Given the description of an element on the screen output the (x, y) to click on. 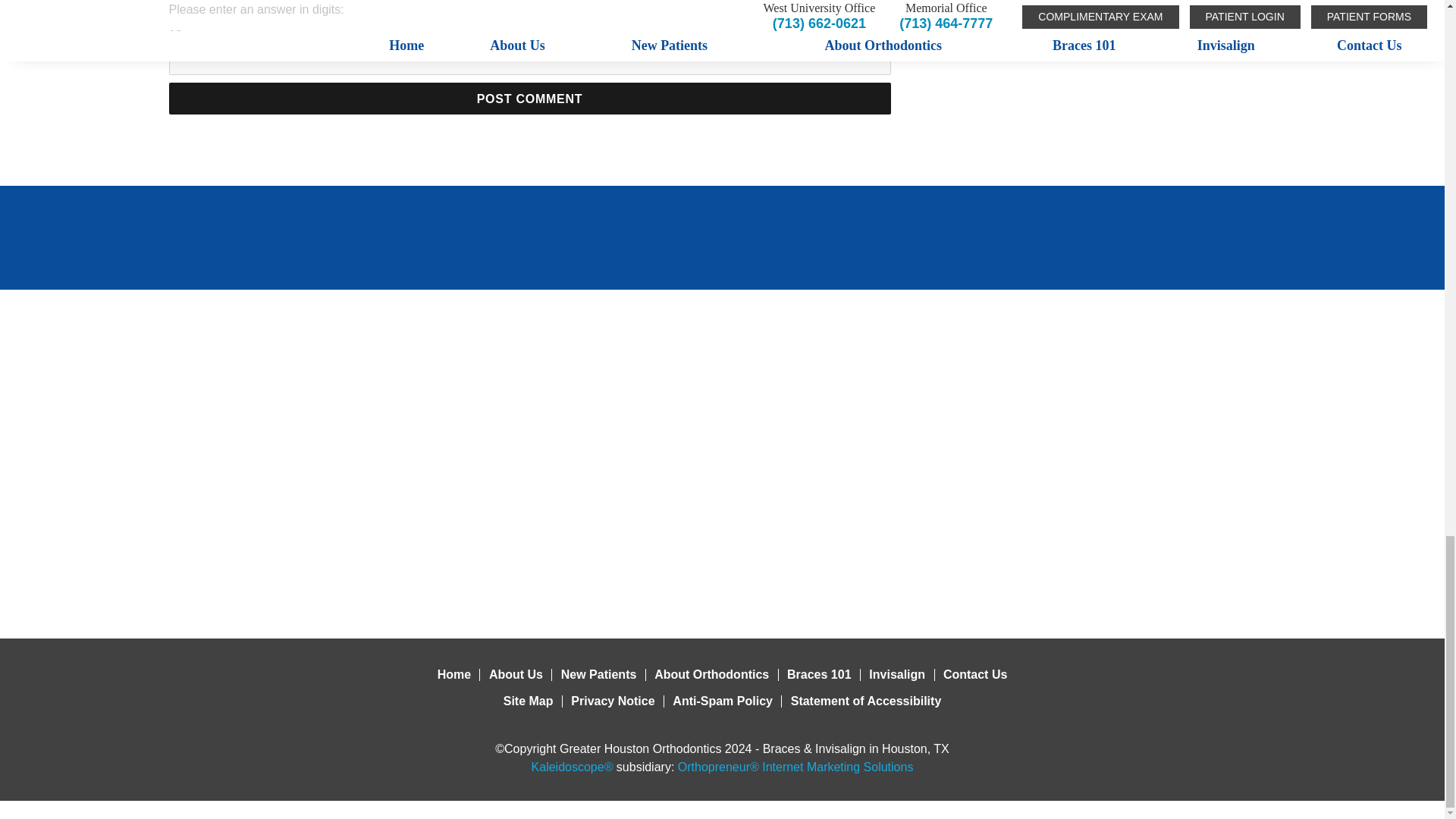
Post Comment (528, 98)
